Given the description of an element on the screen output the (x, y) to click on. 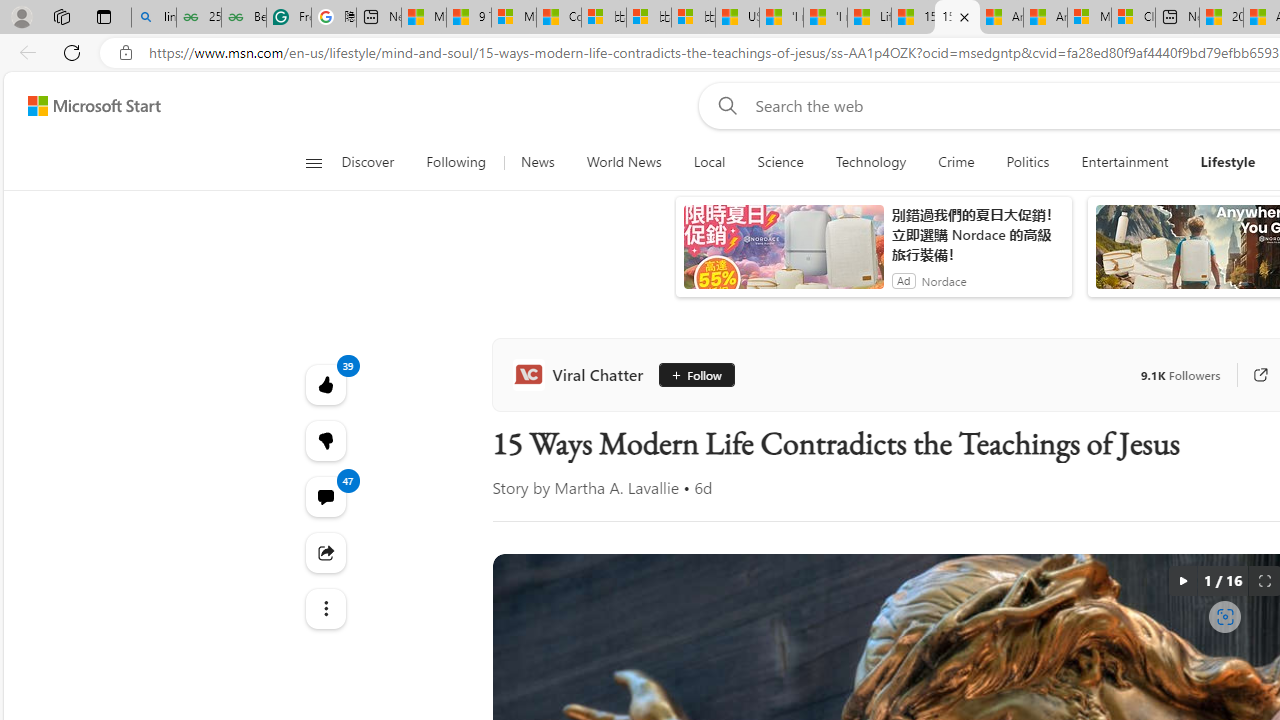
Class: at-item (324, 609)
Viral Chatter (581, 374)
Following (456, 162)
New tab (1177, 17)
Lifestyle - MSN (868, 17)
Close tab (964, 16)
Skip to content (86, 105)
Personal Profile (21, 16)
Politics (1027, 162)
Politics (1027, 162)
Local (709, 162)
Microsoft Start (423, 17)
